Given the description of an element on the screen output the (x, y) to click on. 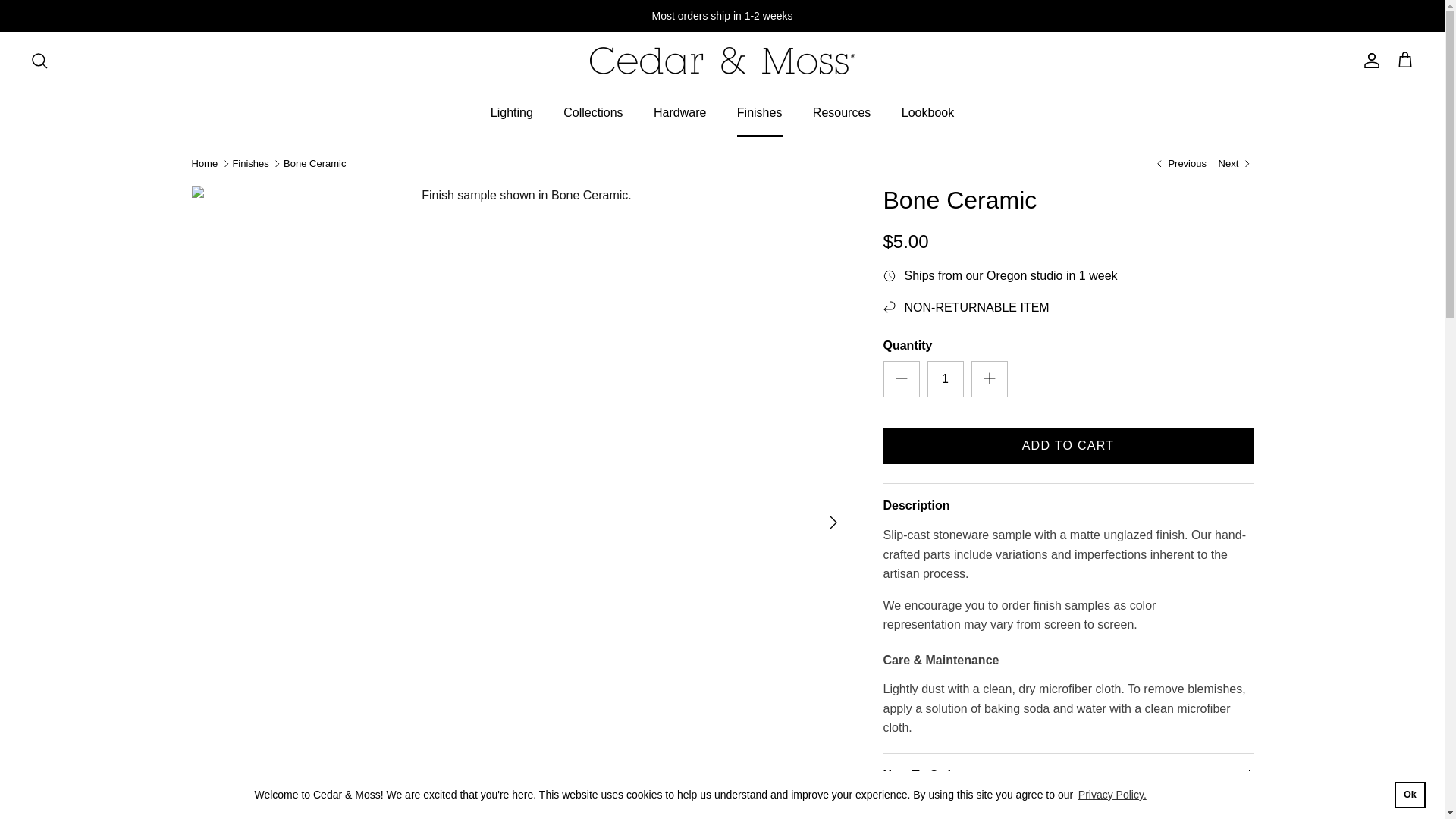
RIGHT (832, 522)
Account (1368, 60)
Search (39, 60)
Secret Garden Green (1180, 164)
Ok (1409, 795)
Minus (900, 378)
1 (944, 379)
Lighting (512, 112)
Plus (988, 378)
Cart (1404, 60)
Privacy Policy. (1111, 794)
Indigo Blue Ceramic (1235, 164)
